Given the description of an element on the screen output the (x, y) to click on. 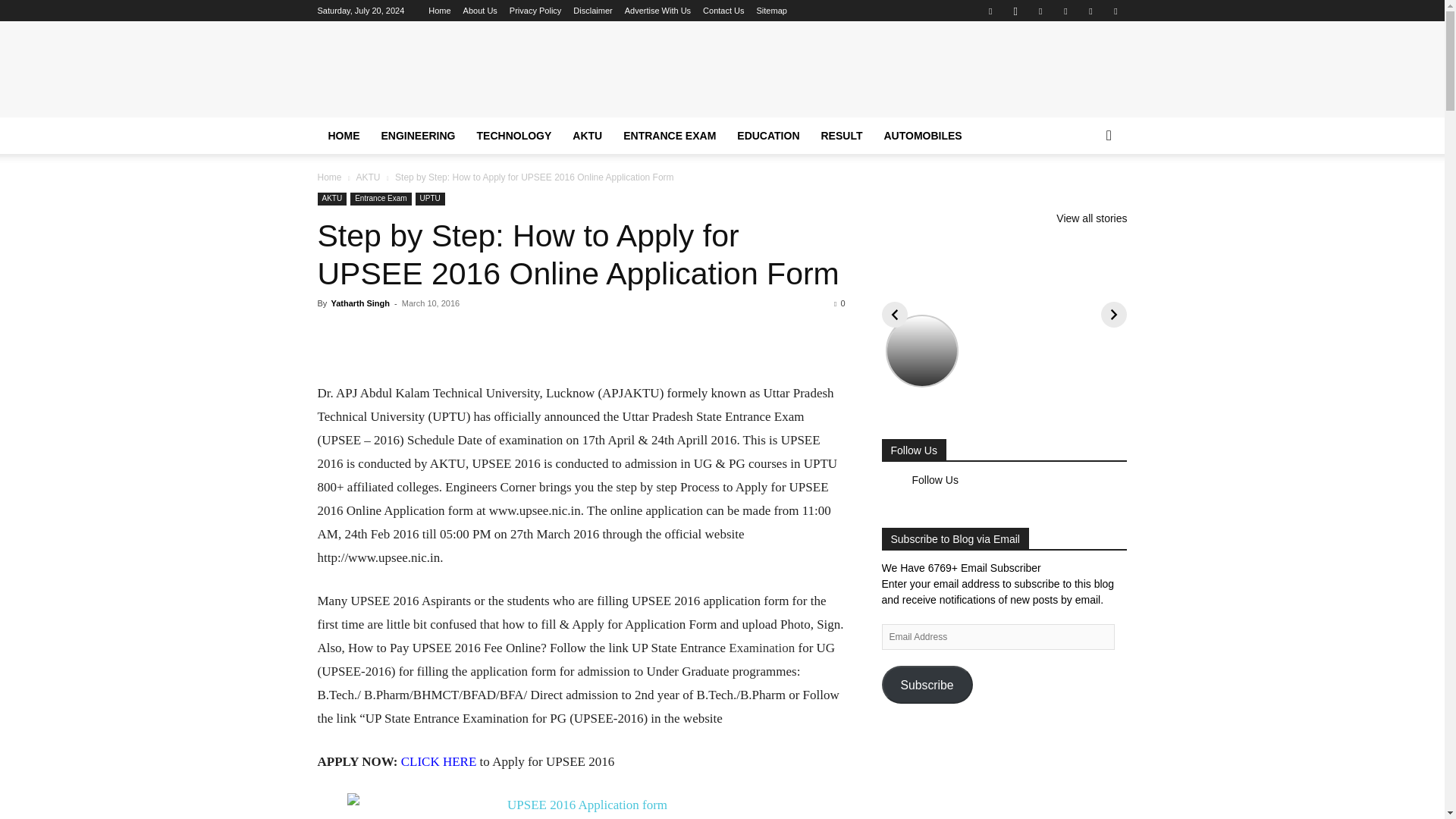
Youtube (1114, 10)
Linkedin (1040, 10)
Instagram (1015, 10)
Twitter (1090, 10)
Home (438, 10)
Facebook (989, 10)
Paypal (1065, 10)
